Given the description of an element on the screen output the (x, y) to click on. 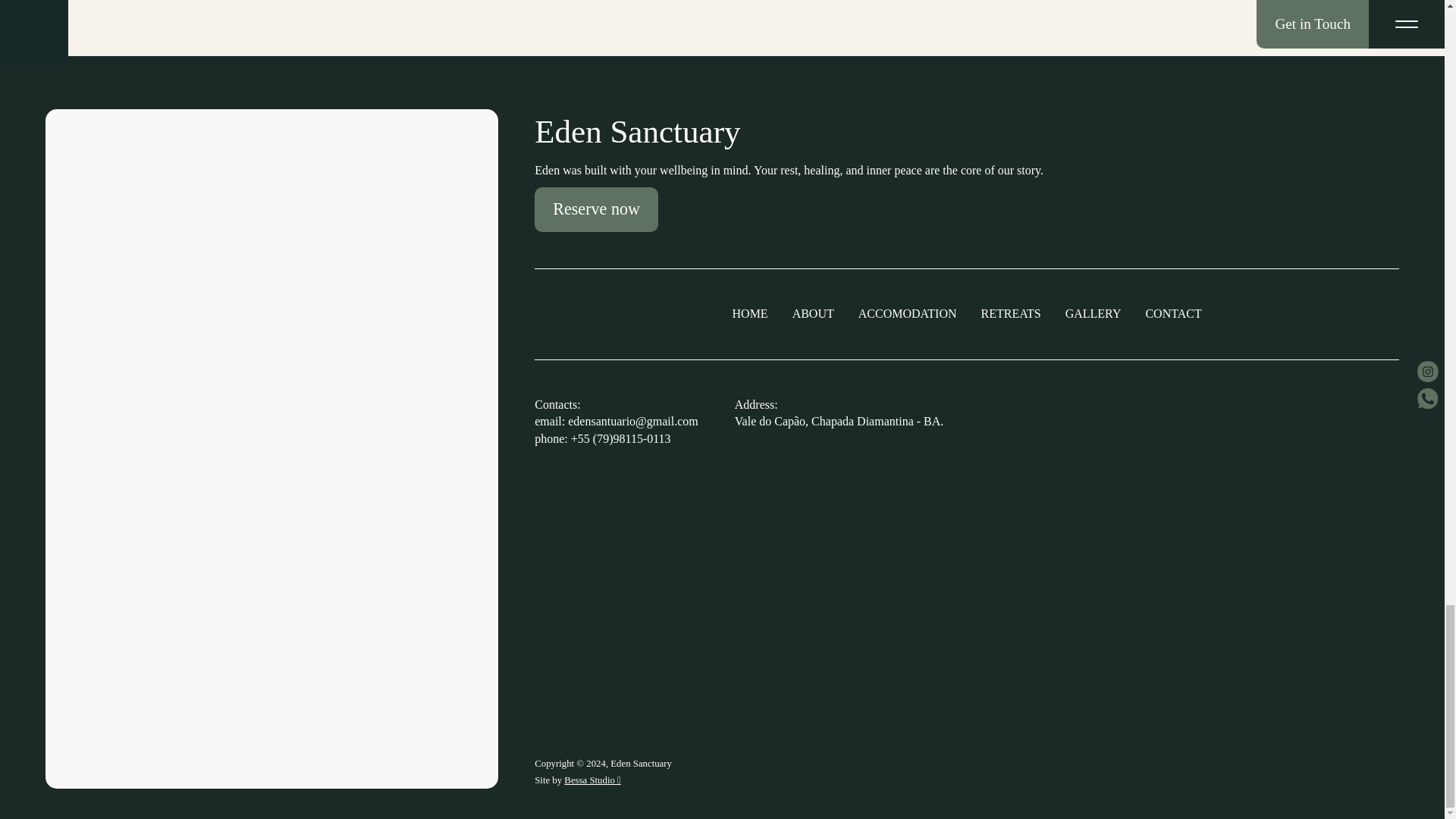
ABOUT (813, 313)
ACCOMODATION (907, 313)
HOME (750, 313)
GALLERY (1093, 313)
Reserve now (596, 209)
RETREATS (1011, 313)
CONTACT (1172, 313)
